Given the description of an element on the screen output the (x, y) to click on. 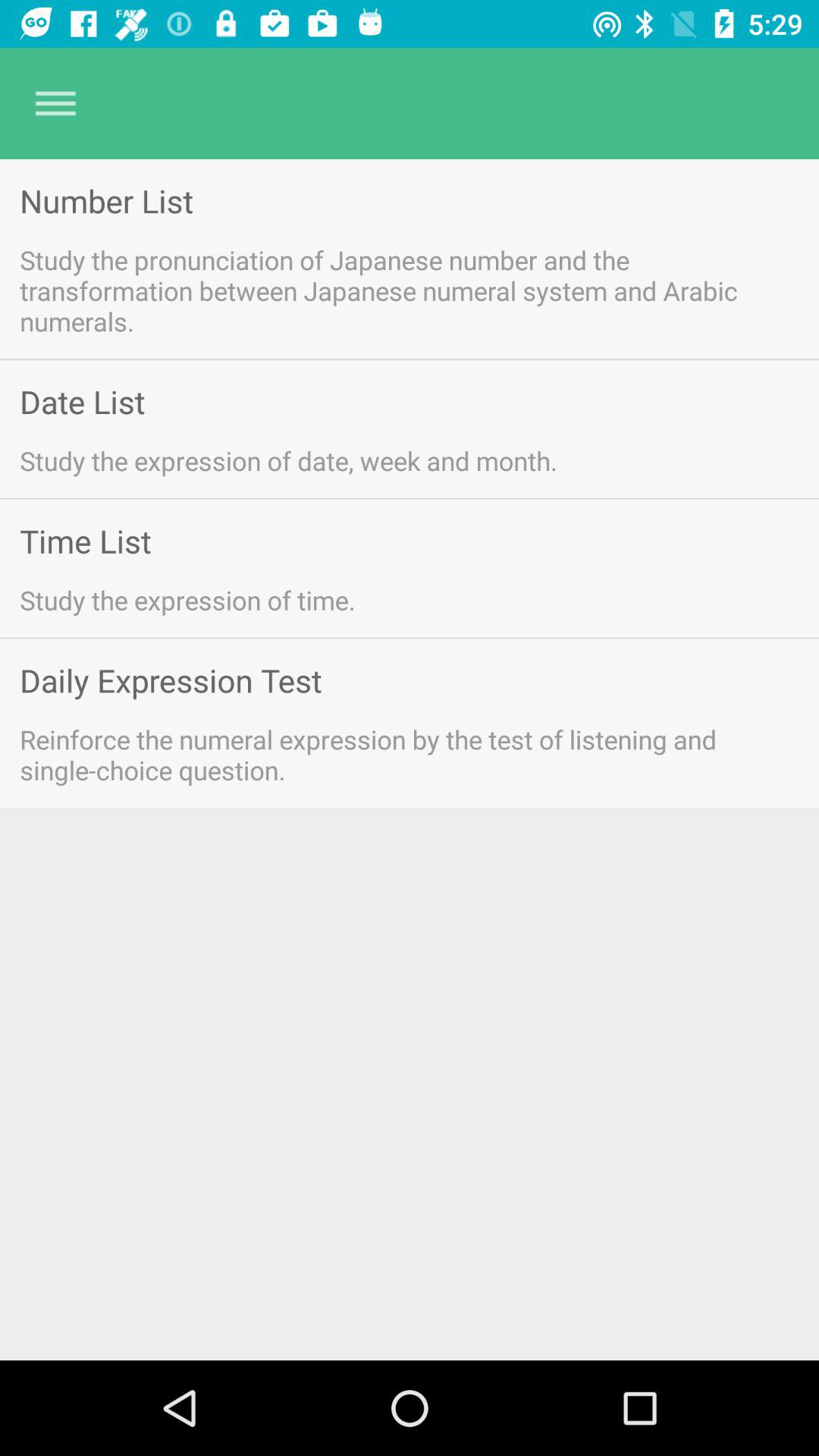
swipe until time list item (85, 540)
